Given the description of an element on the screen output the (x, y) to click on. 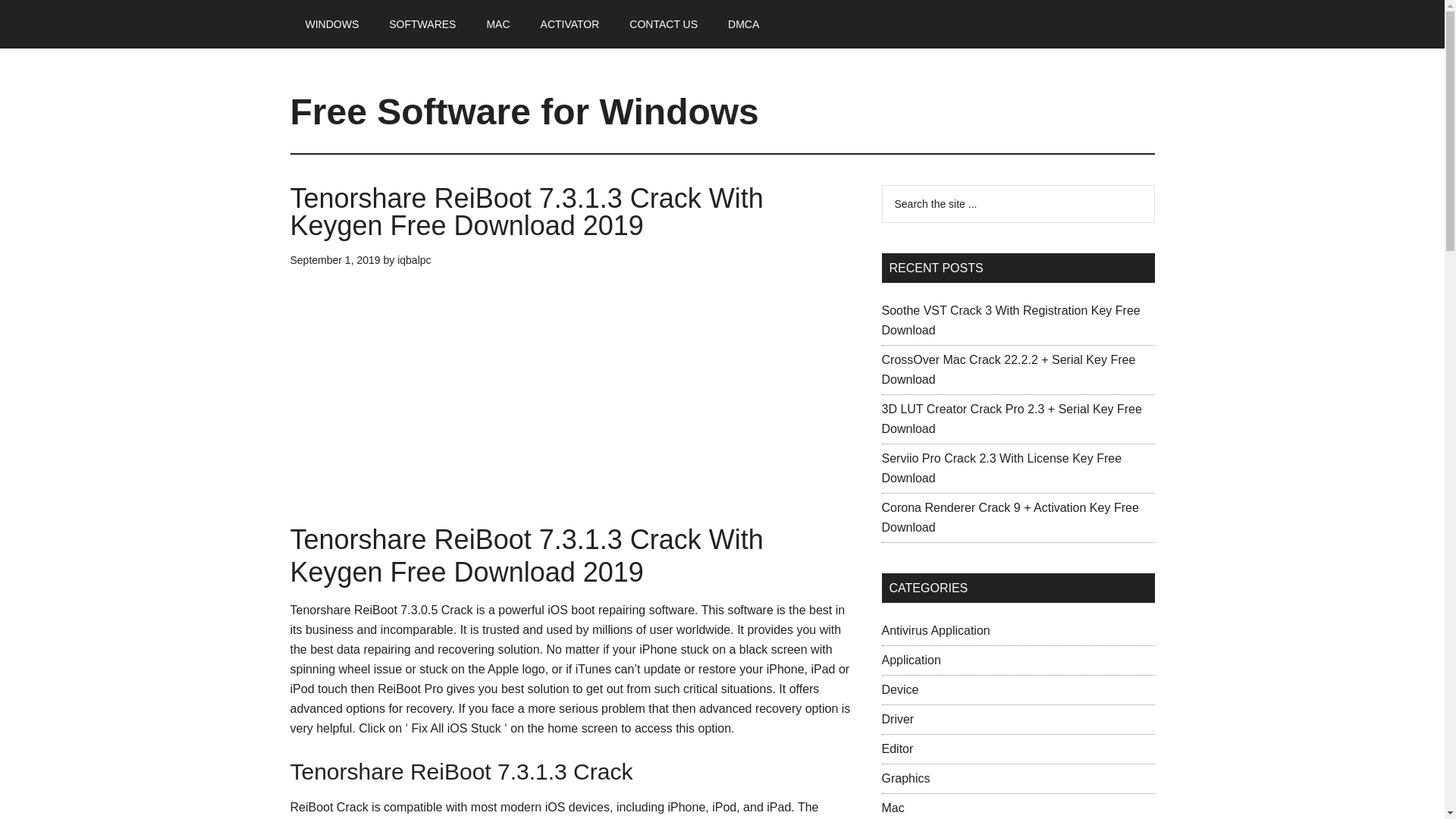
Soothe VST Crack 3 With Registration Key Free Download (1010, 319)
MAC (497, 24)
DMCA (743, 24)
ACTIVATOR (569, 24)
iqbalpc (413, 259)
Application (910, 659)
Editor (896, 748)
Serviio Pro Crack 2.3 With License Key Free Download (1000, 468)
SOFTWARES (422, 24)
Free Software for Windows (523, 111)
Mac (892, 807)
Antivirus Application (935, 630)
